Given the description of an element on the screen output the (x, y) to click on. 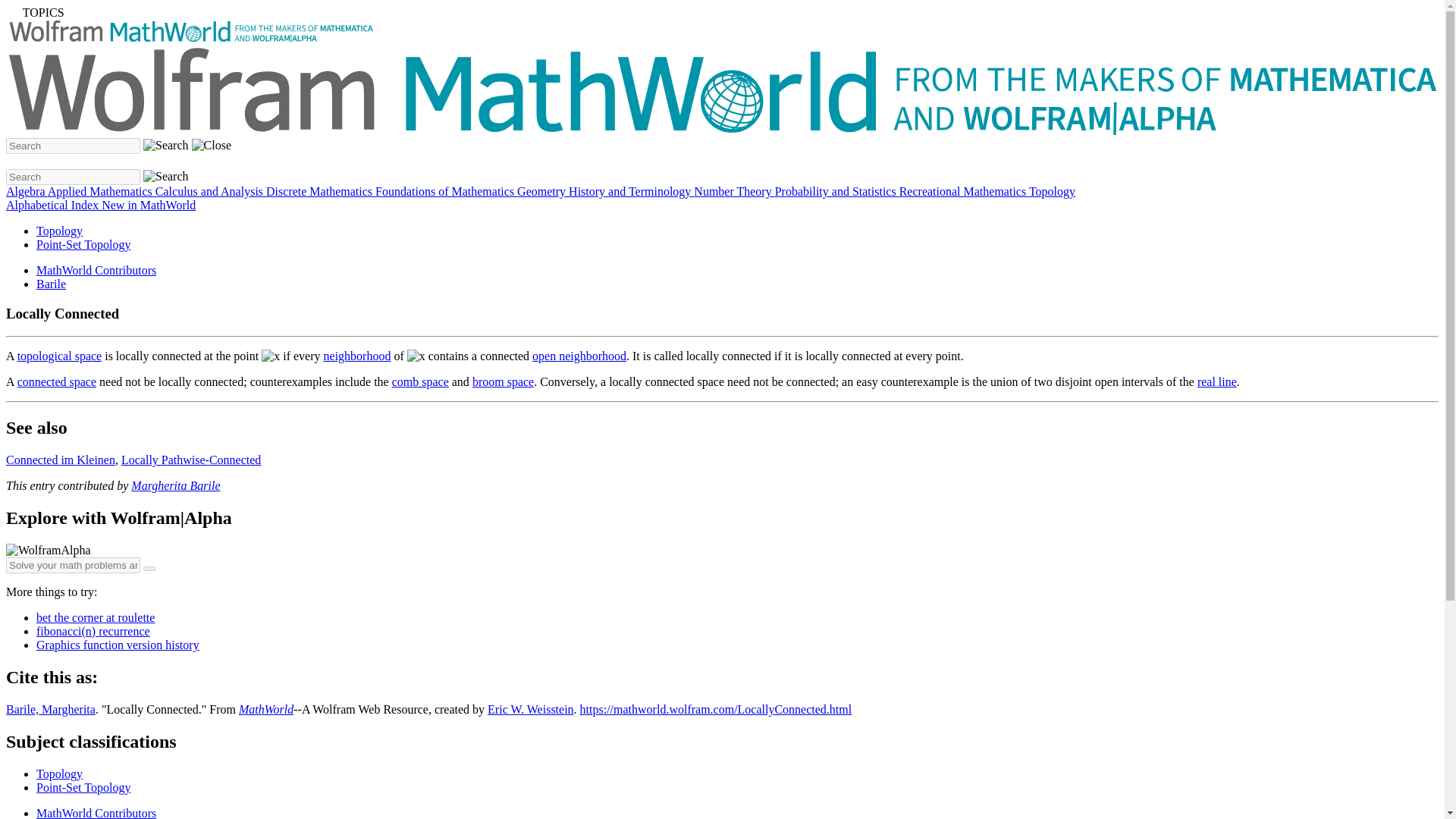
WolframAlpha (47, 550)
Evaluate on WolframAlpha (148, 568)
Probability and Statistics (836, 191)
Number Theory (734, 191)
connected space (56, 381)
Geometry (542, 191)
Topology (59, 230)
Locally Pathwise-Connected (190, 459)
Topology (1052, 191)
MathWorld Contributors (95, 812)
